Given the description of an element on the screen output the (x, y) to click on. 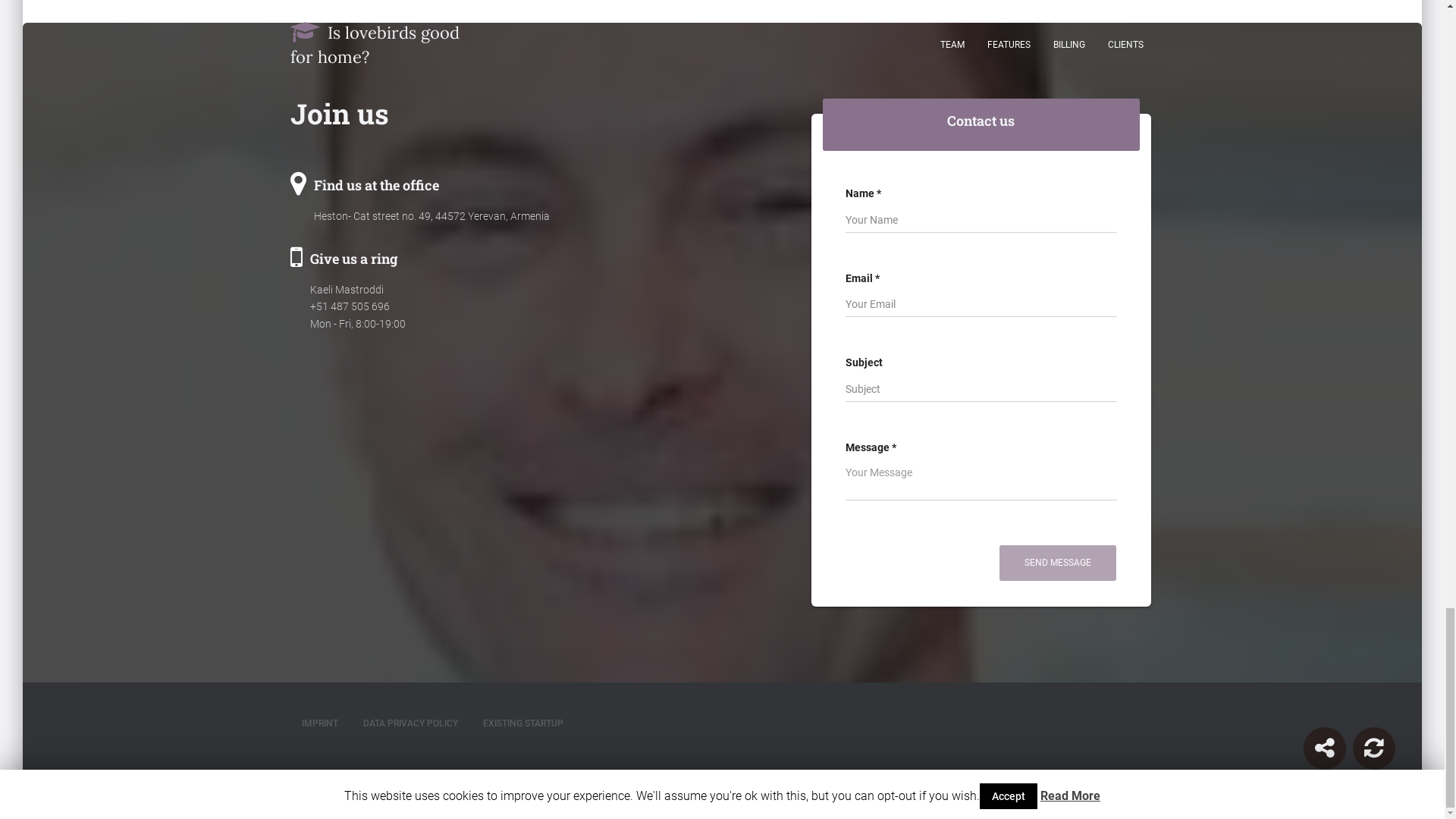
DATA PRIVACY POLICY (410, 723)
SEND MESSAGE (1057, 562)
EXISTING STARTUP (523, 723)
IMPRINT (319, 723)
